Given the description of an element on the screen output the (x, y) to click on. 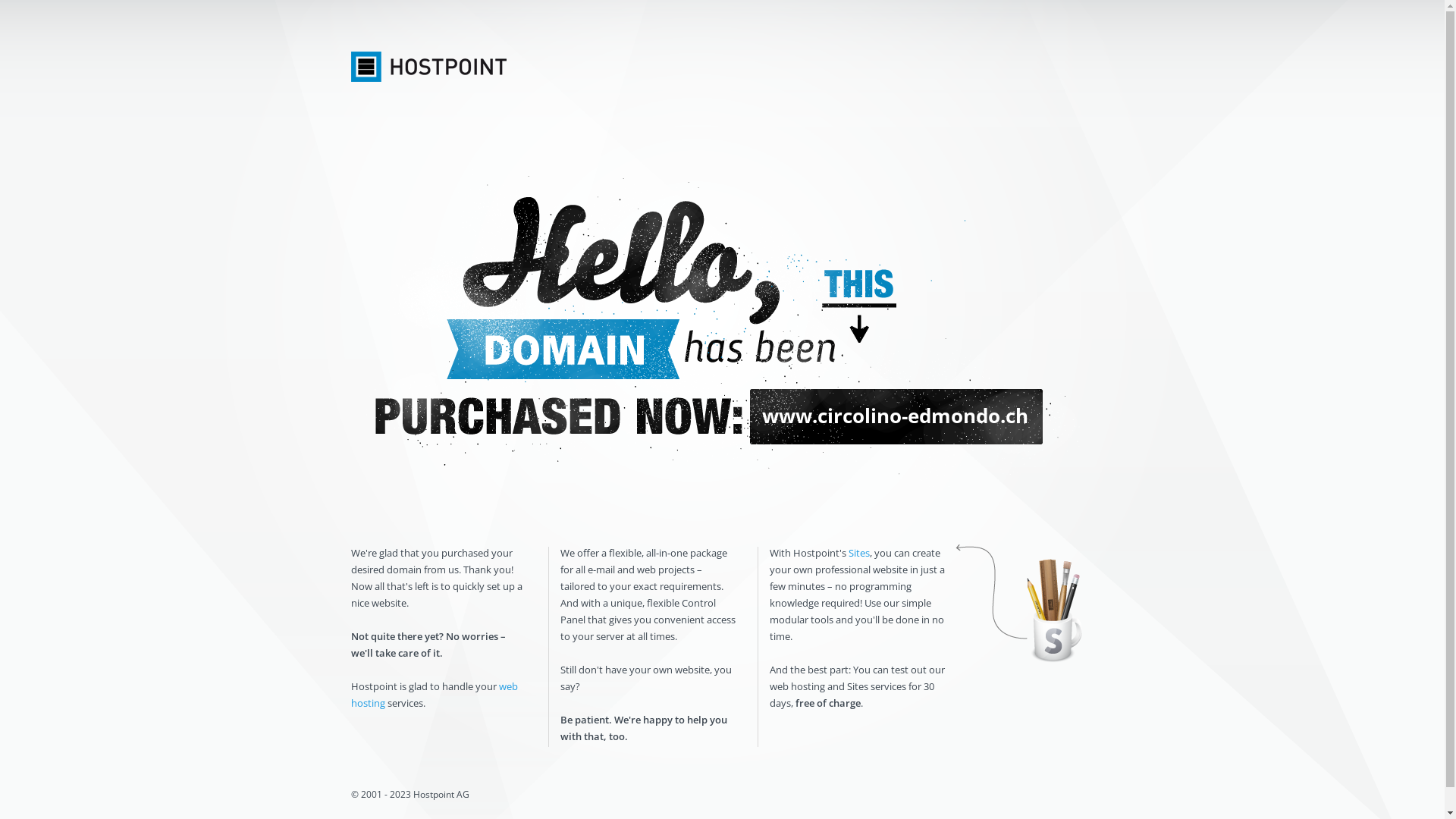
Sites Element type: text (858, 552)
web hosting Element type: text (433, 694)
